Given the description of an element on the screen output the (x, y) to click on. 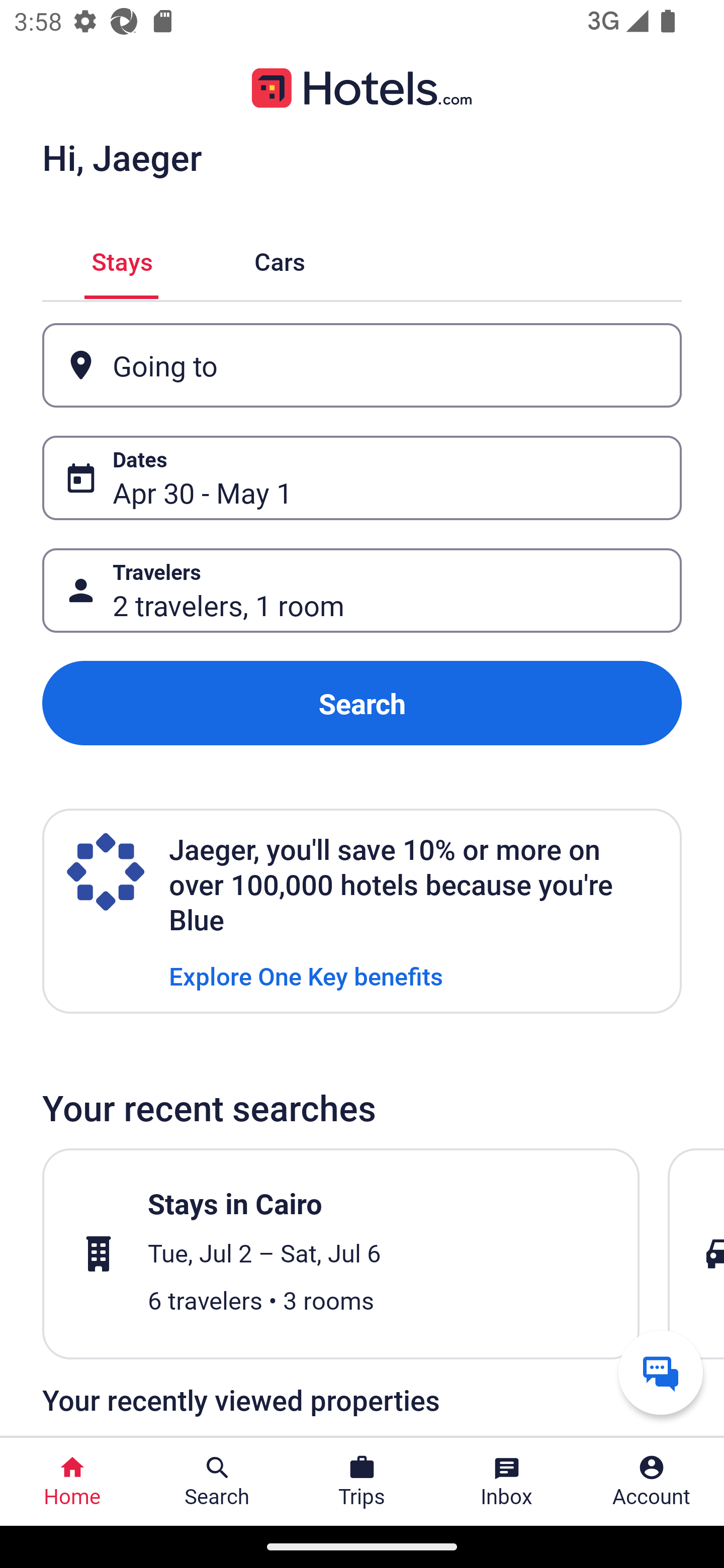
Hi, Jaeger (121, 156)
Cars (279, 259)
Going to Button (361, 365)
Dates Button Apr 30 - May 1 (361, 477)
Travelers Button 2 travelers, 1 room (361, 590)
Search (361, 702)
Get help from a virtual agent (660, 1371)
Search Search Button (216, 1481)
Trips Trips Button (361, 1481)
Inbox Inbox Button (506, 1481)
Account Profile. Button (651, 1481)
